Given the description of an element on the screen output the (x, y) to click on. 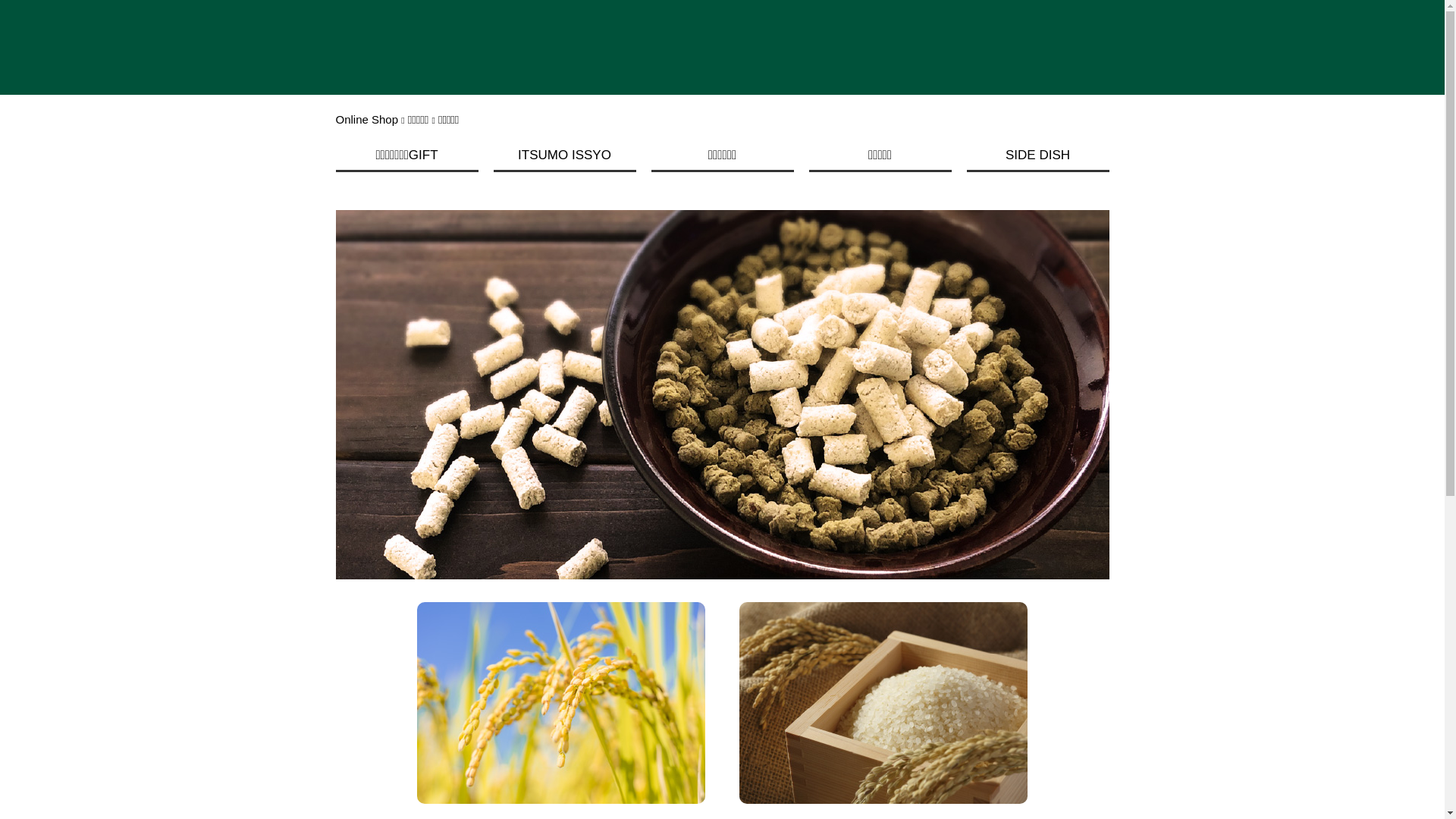
SIDE DISH Element type: text (1037, 158)
ITSUMO ISSYO Element type: text (563, 158)
Online Shop Element type: text (366, 118)
